Given the description of an element on the screen output the (x, y) to click on. 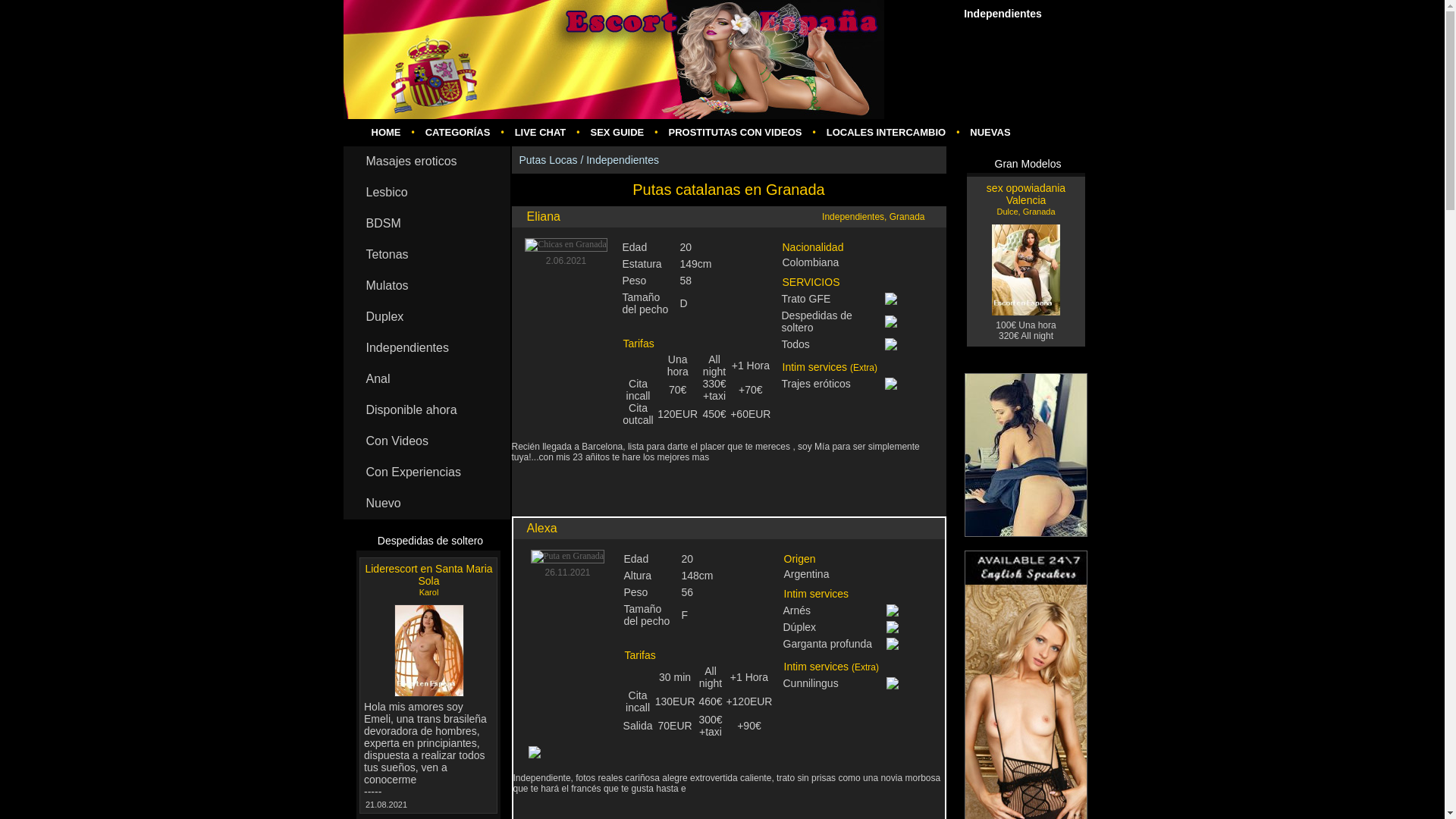
Disponible ahora (425, 409)
Anal (425, 378)
Tetonas (425, 255)
LOCALES INTERCAMBIO (885, 131)
Con Videos (425, 441)
Masajes eroticos (425, 161)
Con Experiencias (425, 472)
Mulatos (425, 286)
Lesbico (425, 192)
PROSTITUTAS CON VIDEOS (735, 131)
